Given the description of an element on the screen output the (x, y) to click on. 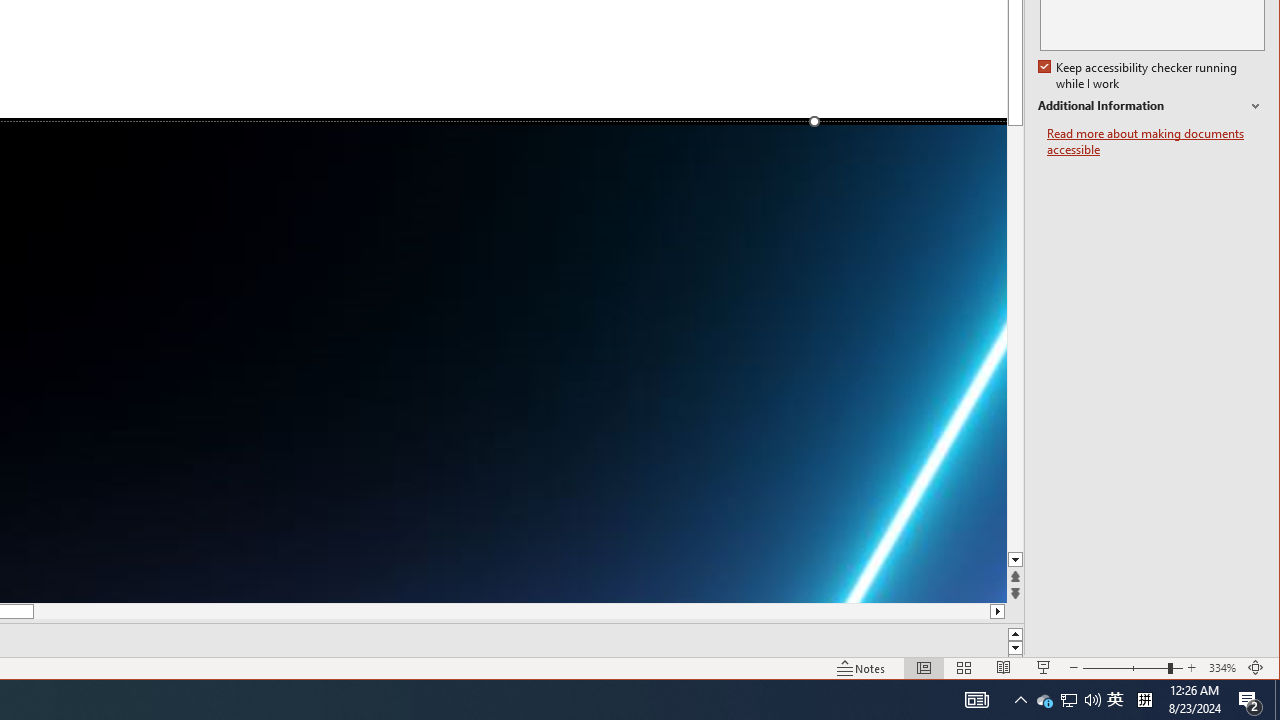
Zoom 334% (1222, 668)
Keep accessibility checker running while I work (1139, 76)
Action Center, 2 new notifications (1250, 699)
